Given the description of an element on the screen output the (x, y) to click on. 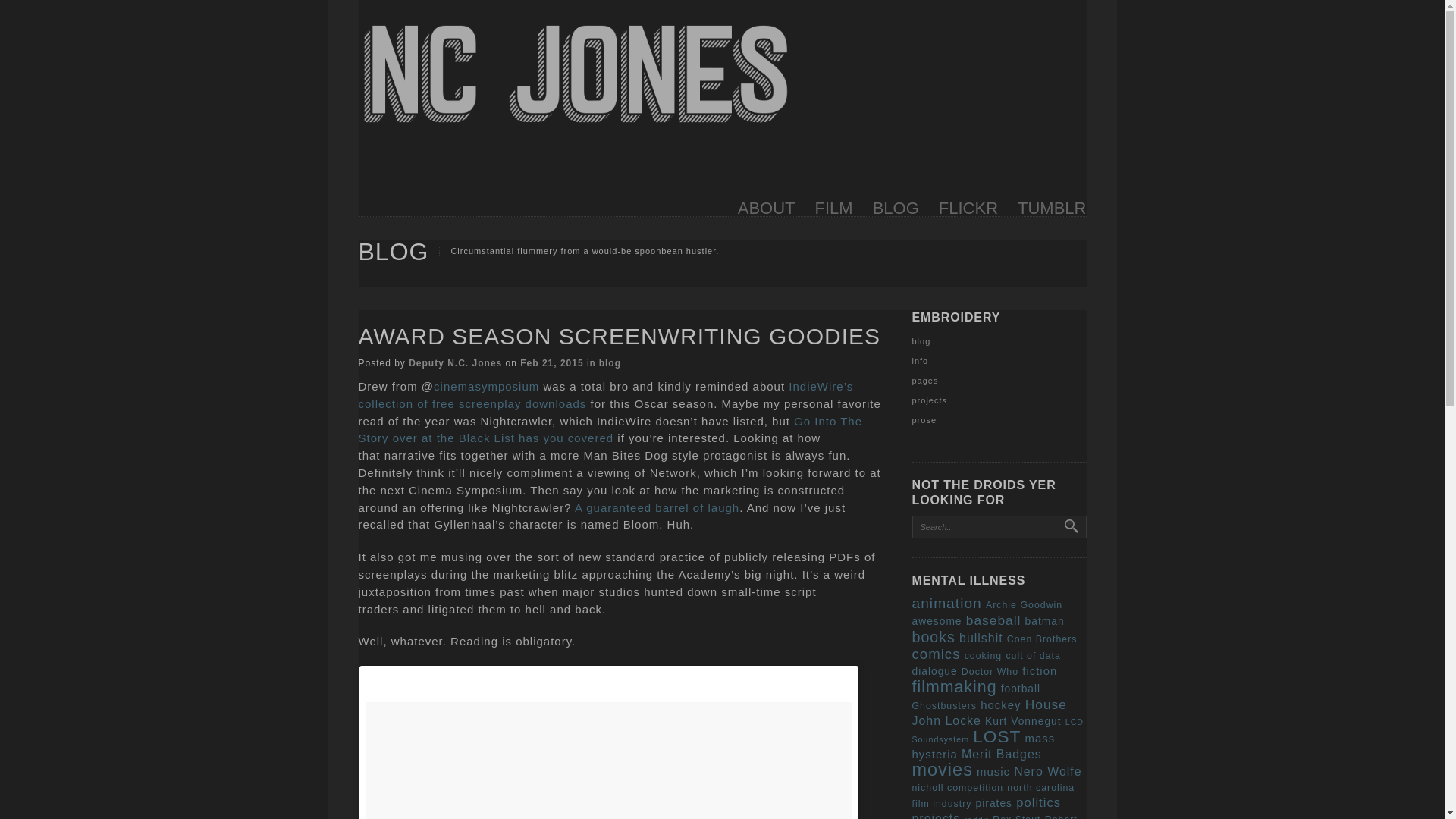
info (919, 360)
books (933, 636)
prose (923, 420)
awesome (935, 621)
fiction (1039, 670)
Go Into The Story over at the Black List has you covered (609, 429)
Doctor Who (988, 671)
cinemasymposium (485, 386)
blog (920, 340)
comics (935, 653)
TUMBLR (1051, 210)
cult of data (1032, 655)
Archie Goodwin (1023, 604)
ABOUT (766, 210)
football (1021, 688)
